Given the description of an element on the screen output the (x, y) to click on. 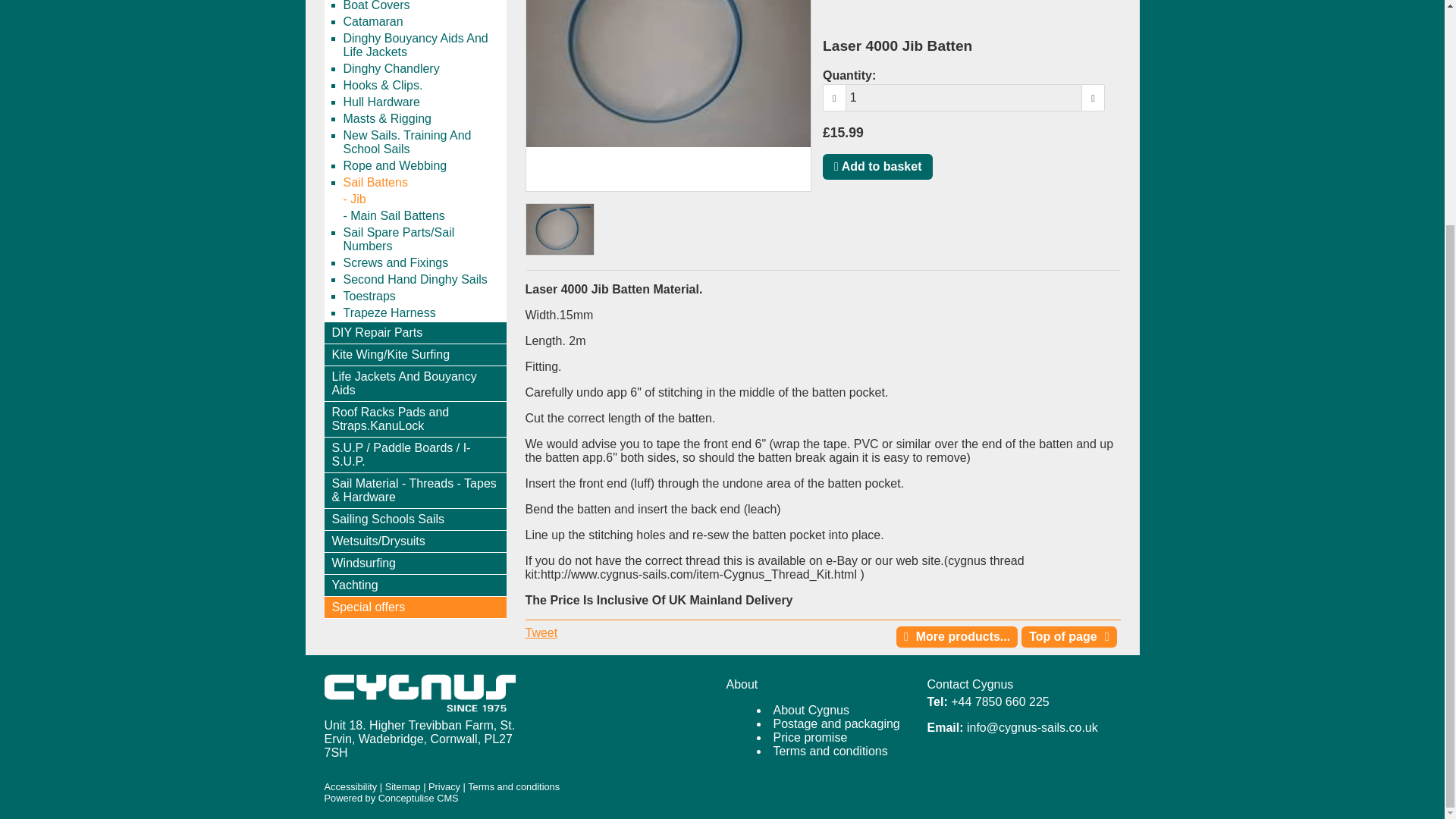
Dinghy Chandlery (423, 68)
Sail Battens (423, 182)
Hull Hardware (423, 102)
Dinghy Bouyancy Aids And Life Jackets (423, 45)
Boat Covers (423, 6)
Rope and Webbing (423, 166)
Catamaran (423, 21)
Laser 4000 Jib Batten (560, 229)
Jib (423, 199)
New Sails. Training And School Sails (423, 142)
